Given the description of an element on the screen output the (x, y) to click on. 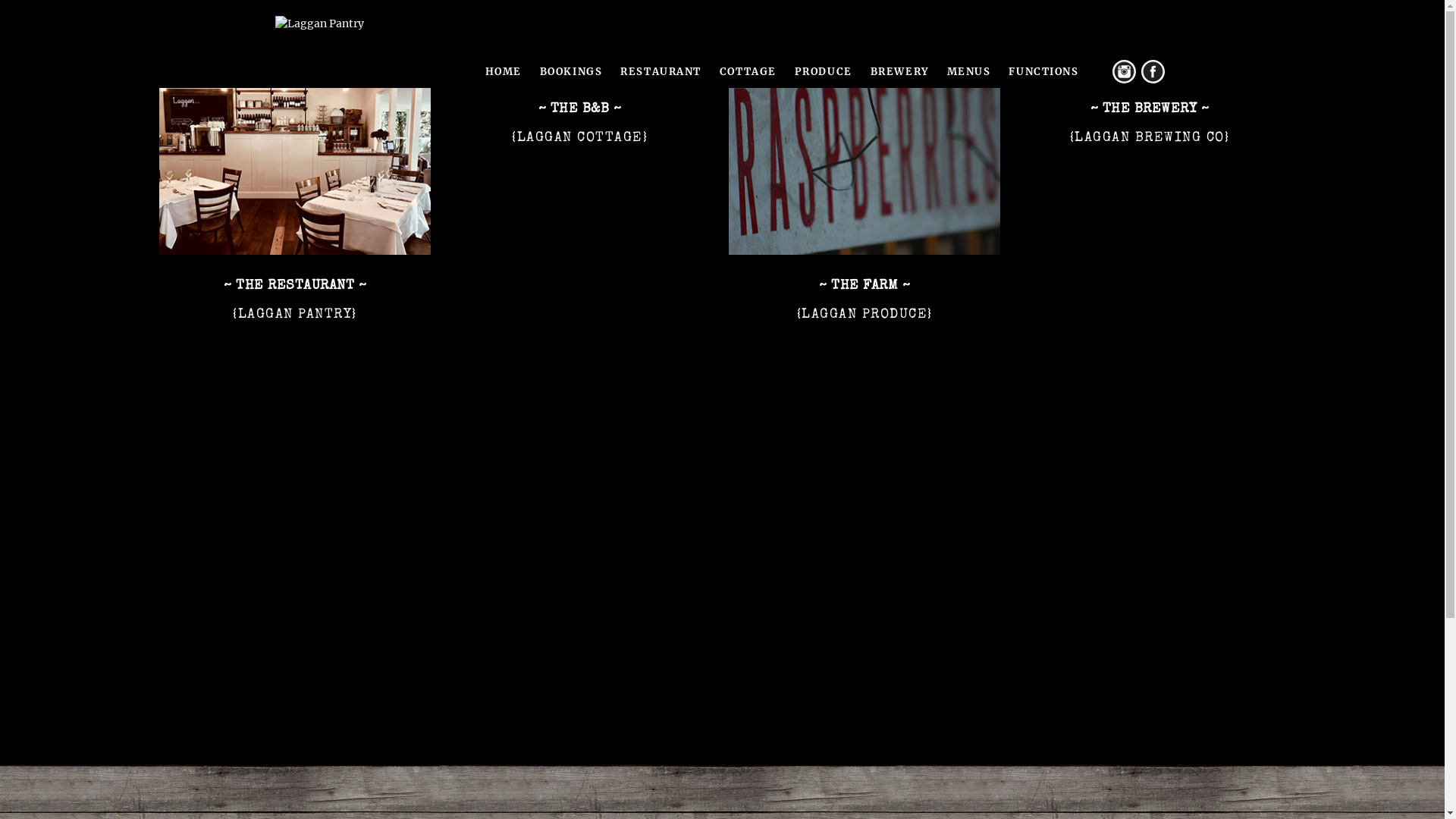
RESTAURANT Element type: text (660, 71)
~ THE BREWERY ~ Element type: text (1149, 109)
Laggan Pantry Element type: hover (318, 23)
Laggan Pantry Element type: hover (318, 22)
Follow Laggan Pantry on Facebook Element type: hover (1152, 71)
~ THE RESTAURANT ~ Element type: text (294, 285)
BOOKINGS Element type: text (570, 71)
~ THE FARM ~ Element type: text (864, 285)
MENUS Element type: text (969, 71)
HOME Element type: text (503, 71)
BREWERY Element type: text (899, 71)
COTTAGE Element type: text (747, 71)
PRODUCE Element type: text (823, 71)
~ THE B&B ~ Element type: text (579, 109)
FUNCTIONS Element type: text (1043, 71)
Follow Laggan Pantry on Instagram Element type: hover (1123, 71)
